Given the description of an element on the screen output the (x, y) to click on. 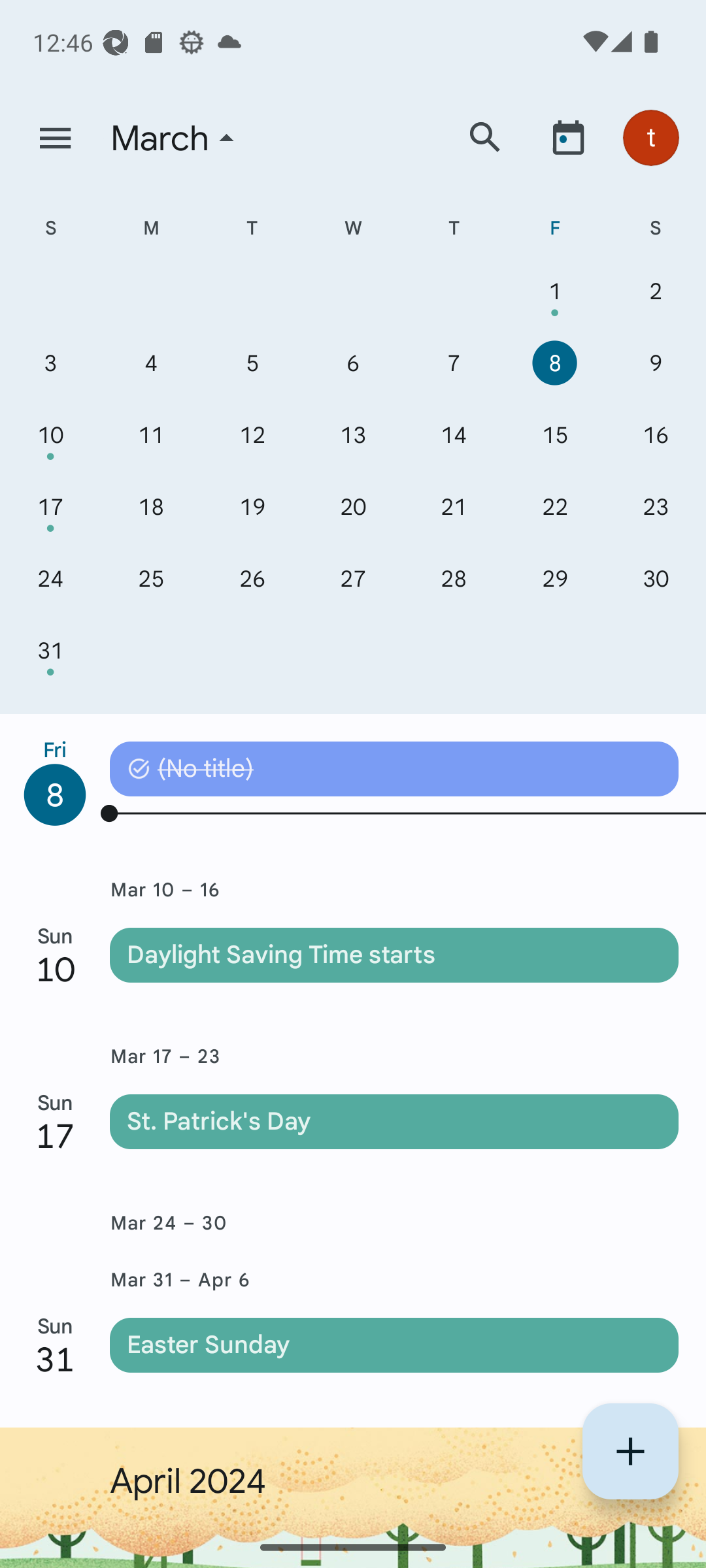
Show Calendar List and Settings drawer (55, 138)
March, Hide date picker March (270, 138)
Search (485, 137)
Jump to Today (567, 137)
Create new event and more (630, 1451)
